Given the description of an element on the screen output the (x, y) to click on. 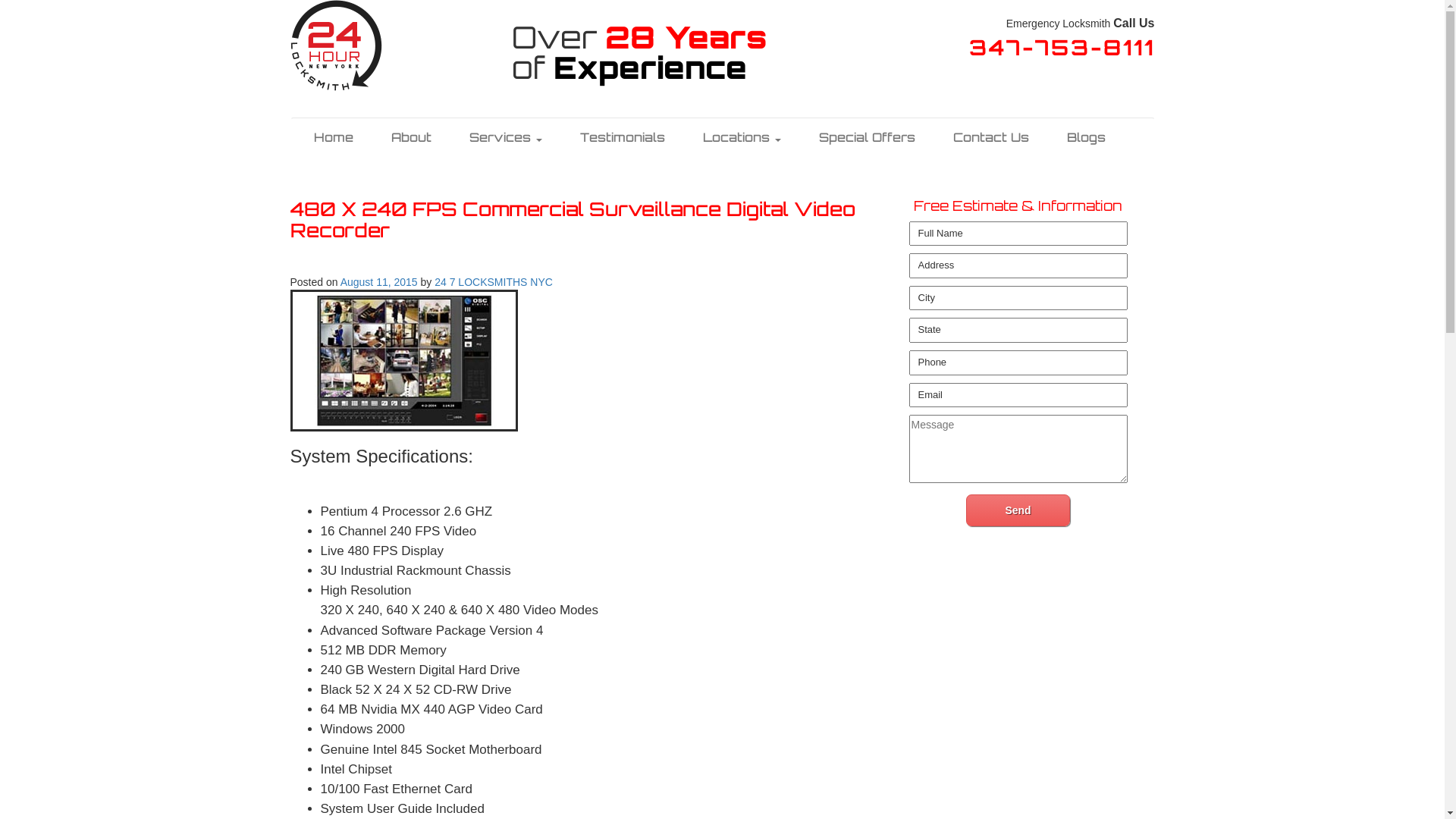
Special Offers Element type: text (865, 137)
24 Hour Locksmith New York Element type: hover (335, 44)
Send Element type: text (1017, 510)
Contact Us Element type: text (990, 137)
Testimonials Element type: text (622, 137)
Home Element type: text (332, 137)
Services Element type: text (505, 137)
August 11, 2015 Element type: text (378, 282)
347-753-8111 Element type: text (1061, 51)
24 7 LOCKSMITHS NYC Element type: text (493, 282)
About Element type: text (410, 137)
Locations Element type: text (741, 137)
Blogs Element type: text (1086, 137)
